Given the description of an element on the screen output the (x, y) to click on. 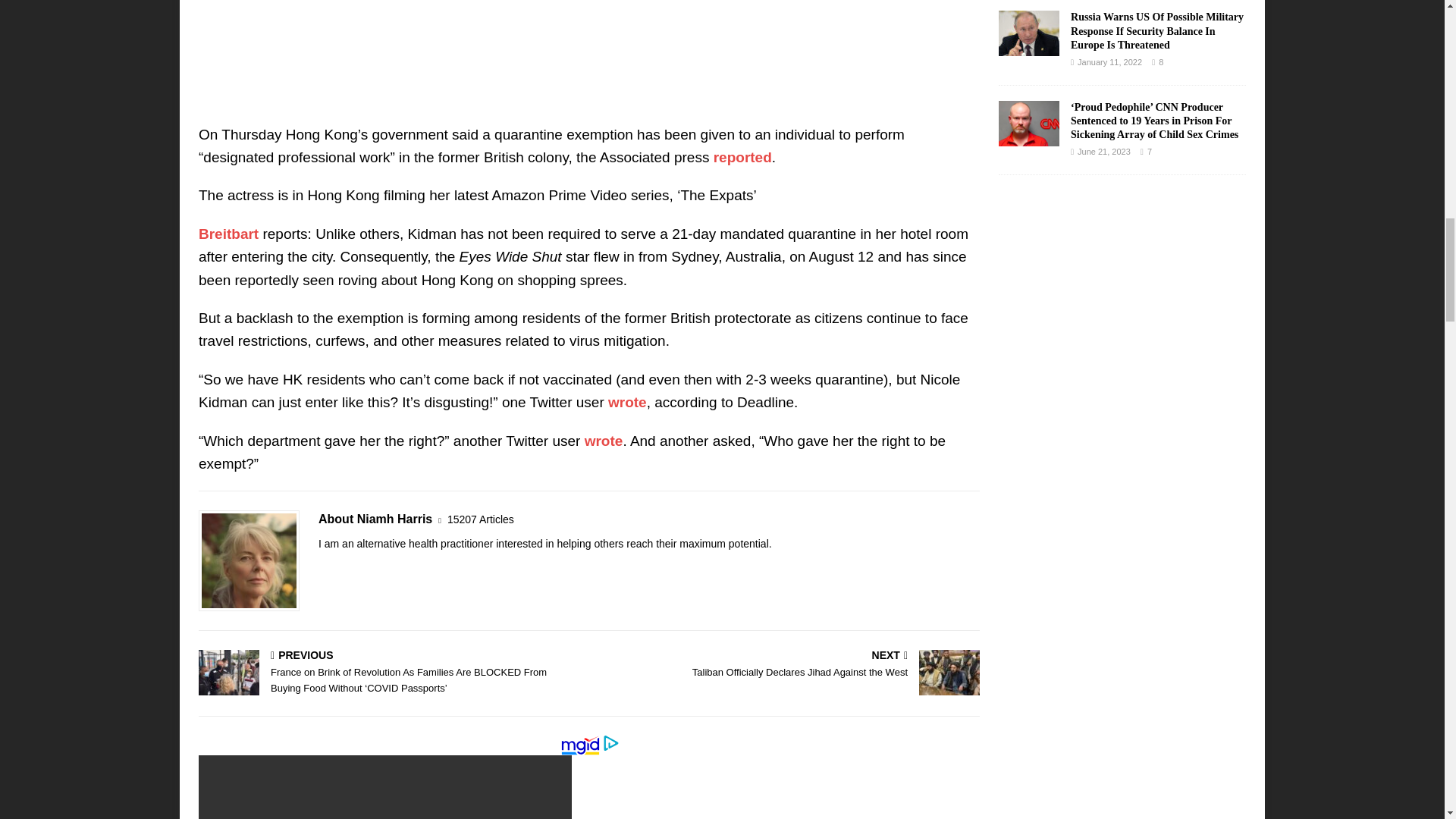
More articles written by Niamh Harris' (479, 519)
